Given the description of an element on the screen output the (x, y) to click on. 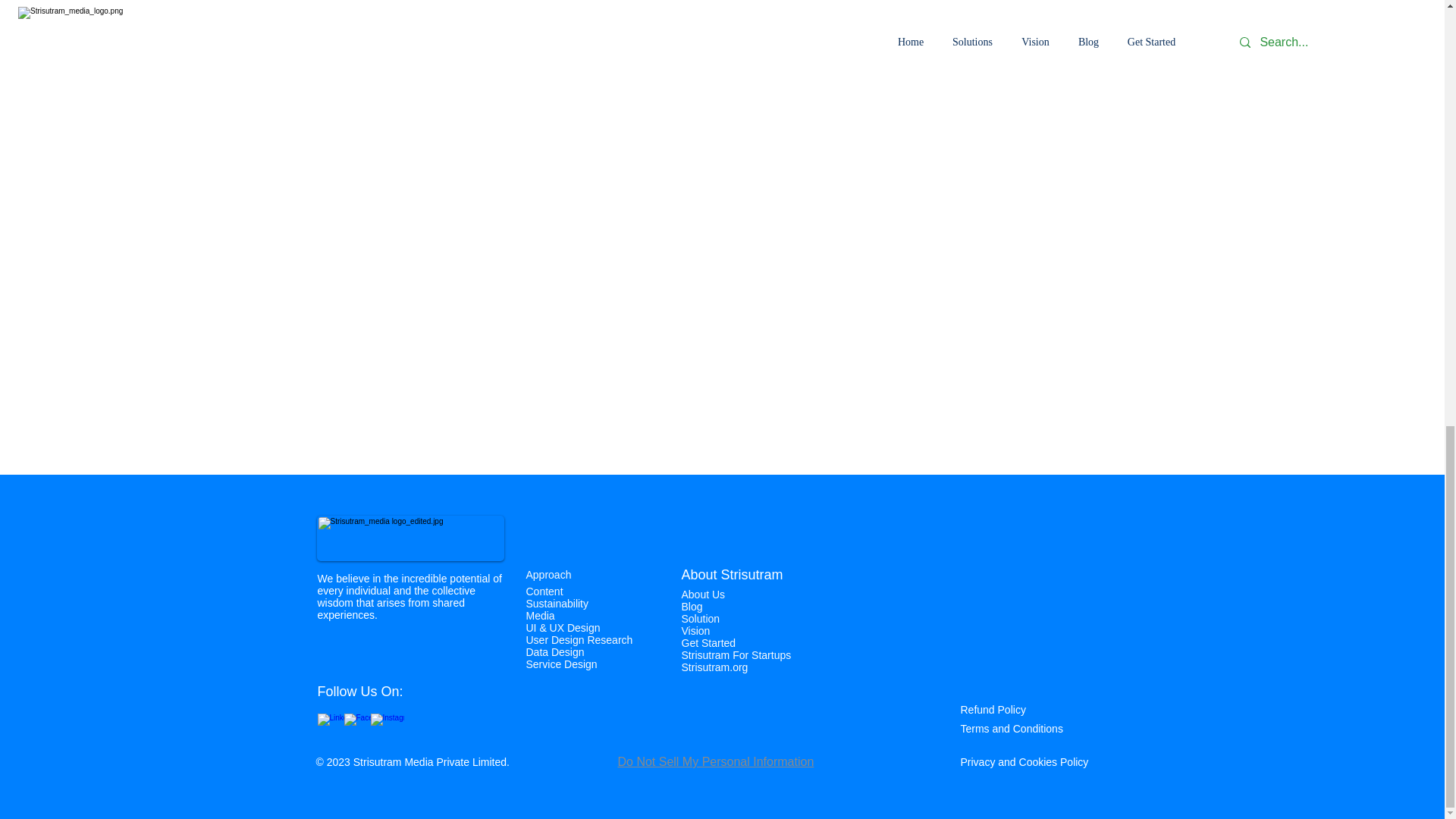
Terms and Conditions (1010, 728)
Do Not Sell My Personal Information (715, 761)
Privacy and Cookies Policy (1023, 761)
Black White Orange Professional Concept  (410, 538)
Refund Policy (992, 709)
